Given the description of an element on the screen output the (x, y) to click on. 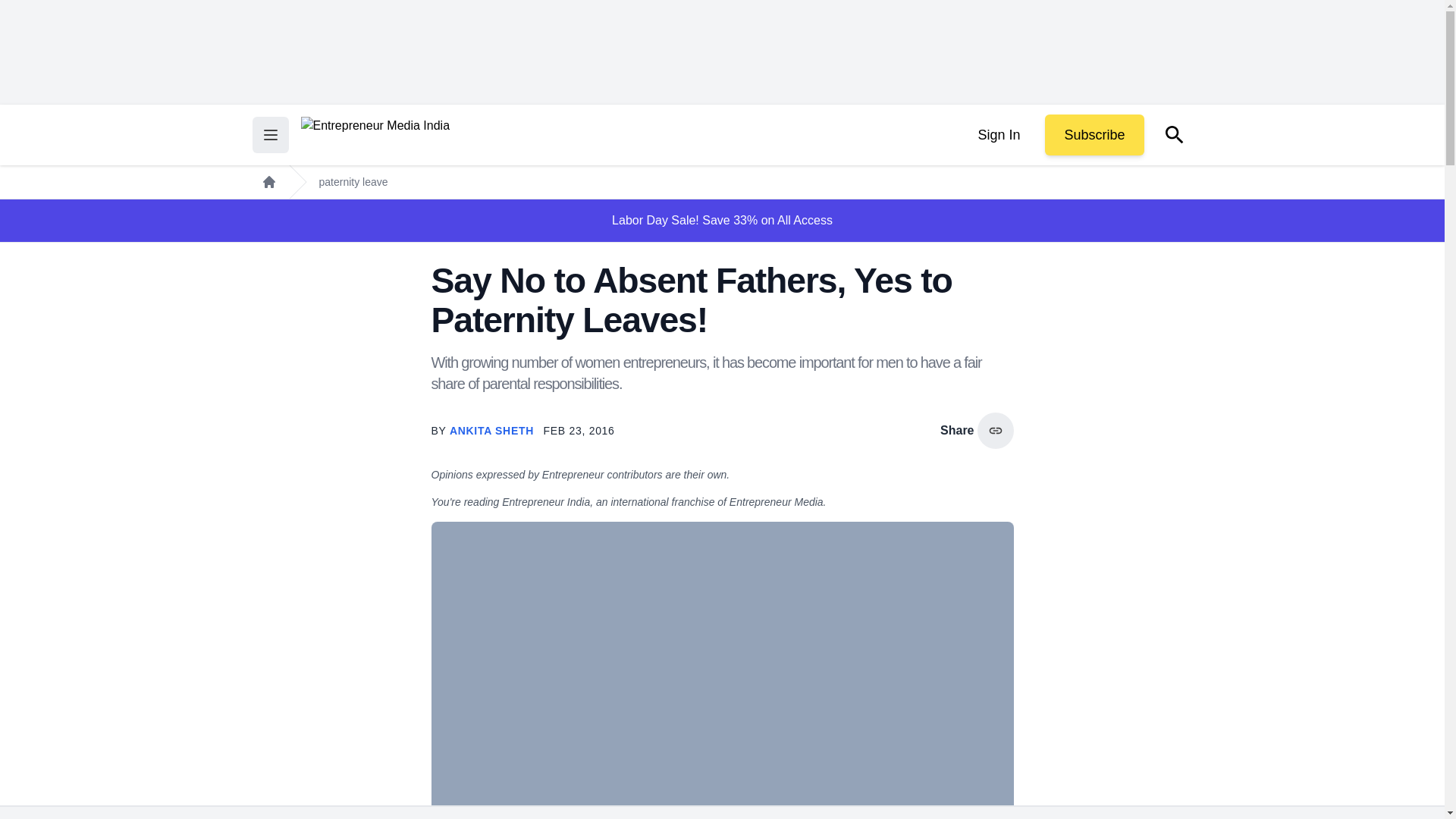
Sign In (998, 134)
Return to the home page (374, 135)
copy (994, 430)
Subscribe (1093, 134)
